Given the description of an element on the screen output the (x, y) to click on. 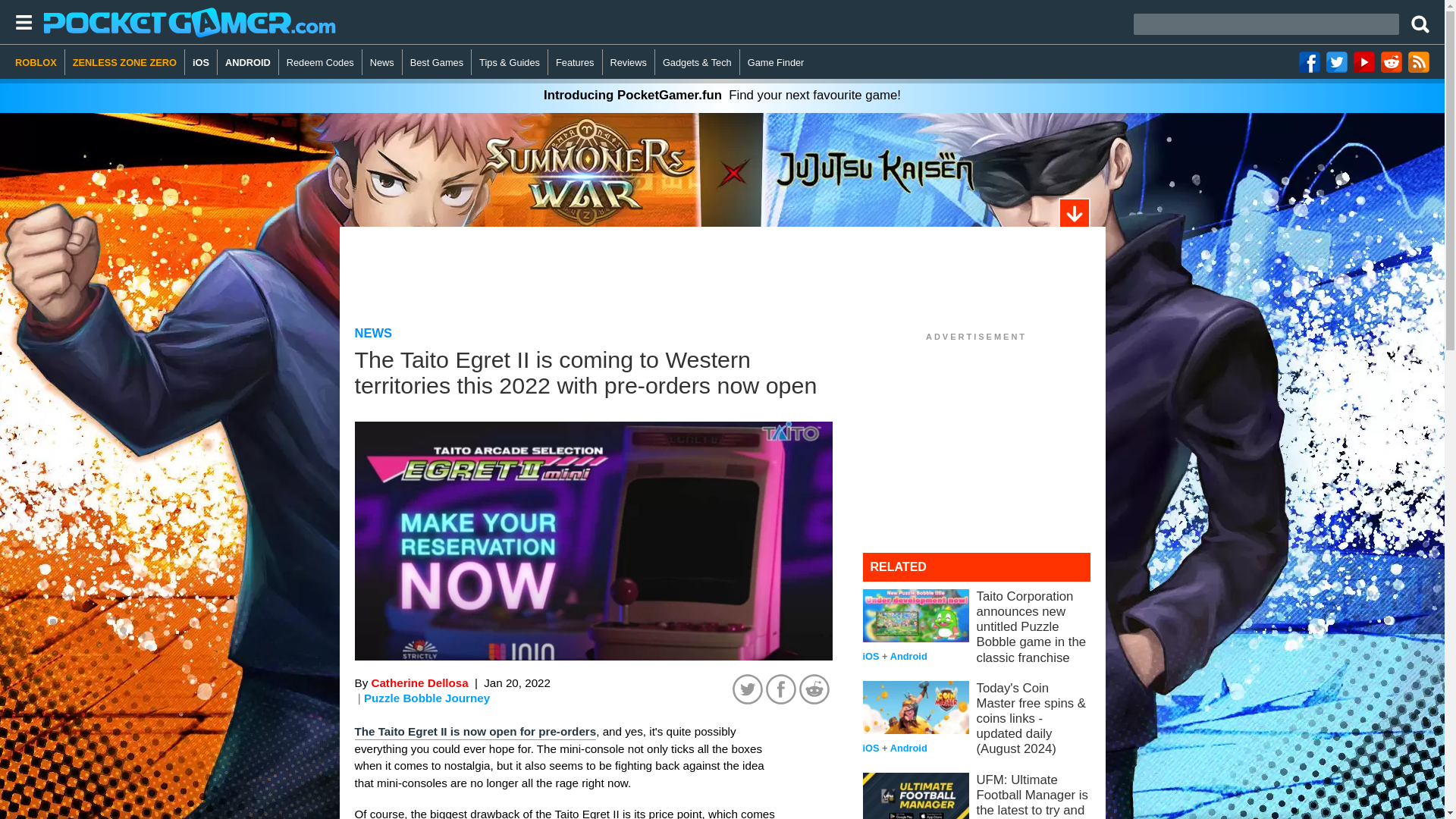
ZENLESS ZONE ZERO (124, 62)
Puzzle Bobble Journey (426, 698)
Best Games (437, 62)
iOS (200, 62)
The Taito Egret II is now open for pre-orders (475, 732)
Redeem Codes (320, 62)
ROBLOX (39, 62)
Reviews (628, 62)
Game Finder (775, 62)
News (382, 62)
